Given the description of an element on the screen output the (x, y) to click on. 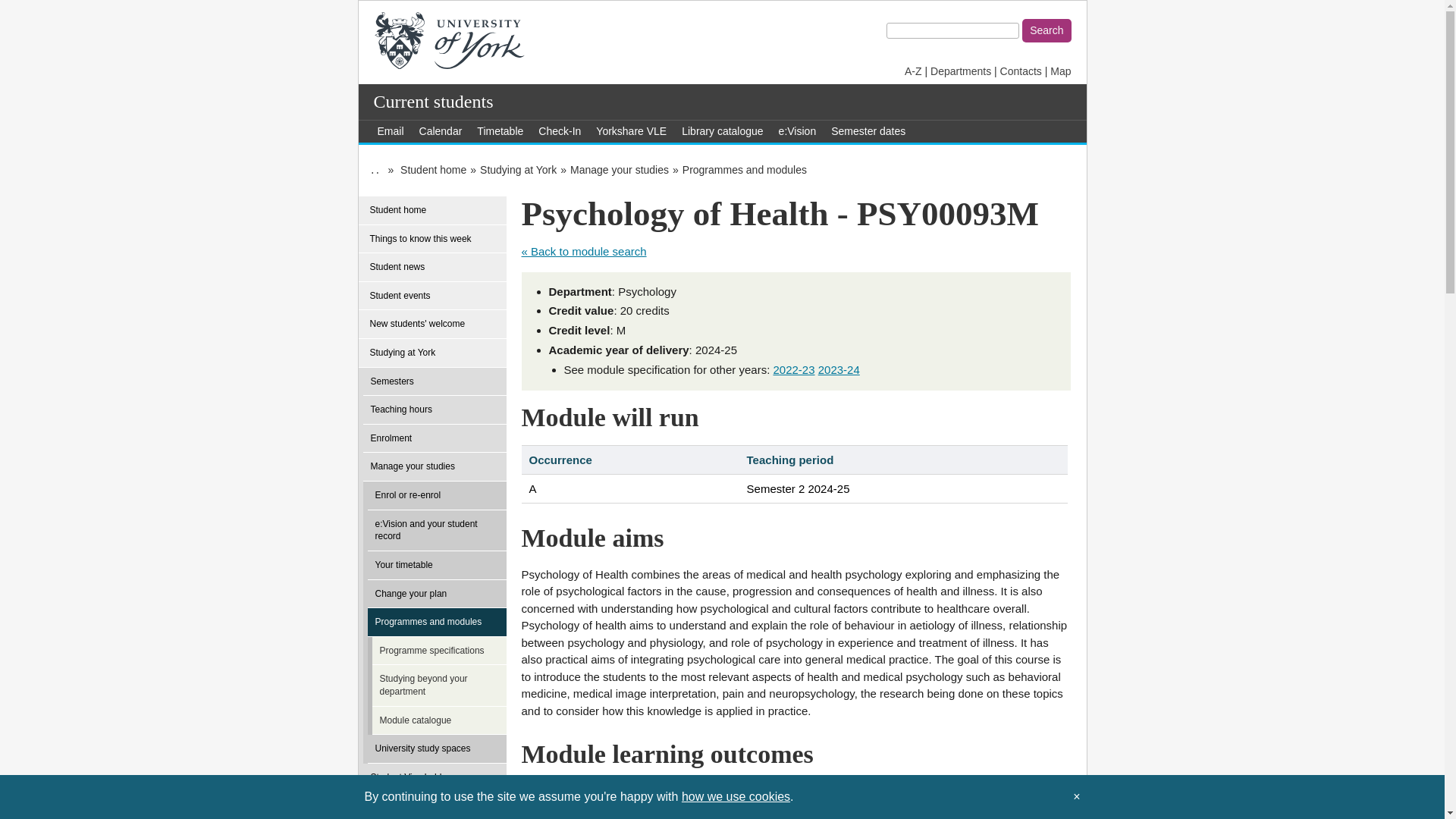
Map (1059, 70)
University homepage (449, 38)
Enrol or re-enrol (440, 495)
Programme specifications (445, 651)
Programmes and modules (744, 169)
Semester dates (868, 130)
Manage your studies (619, 169)
Timetable (499, 130)
Contacts (1021, 70)
Your timetable (440, 565)
